Given the description of an element on the screen output the (x, y) to click on. 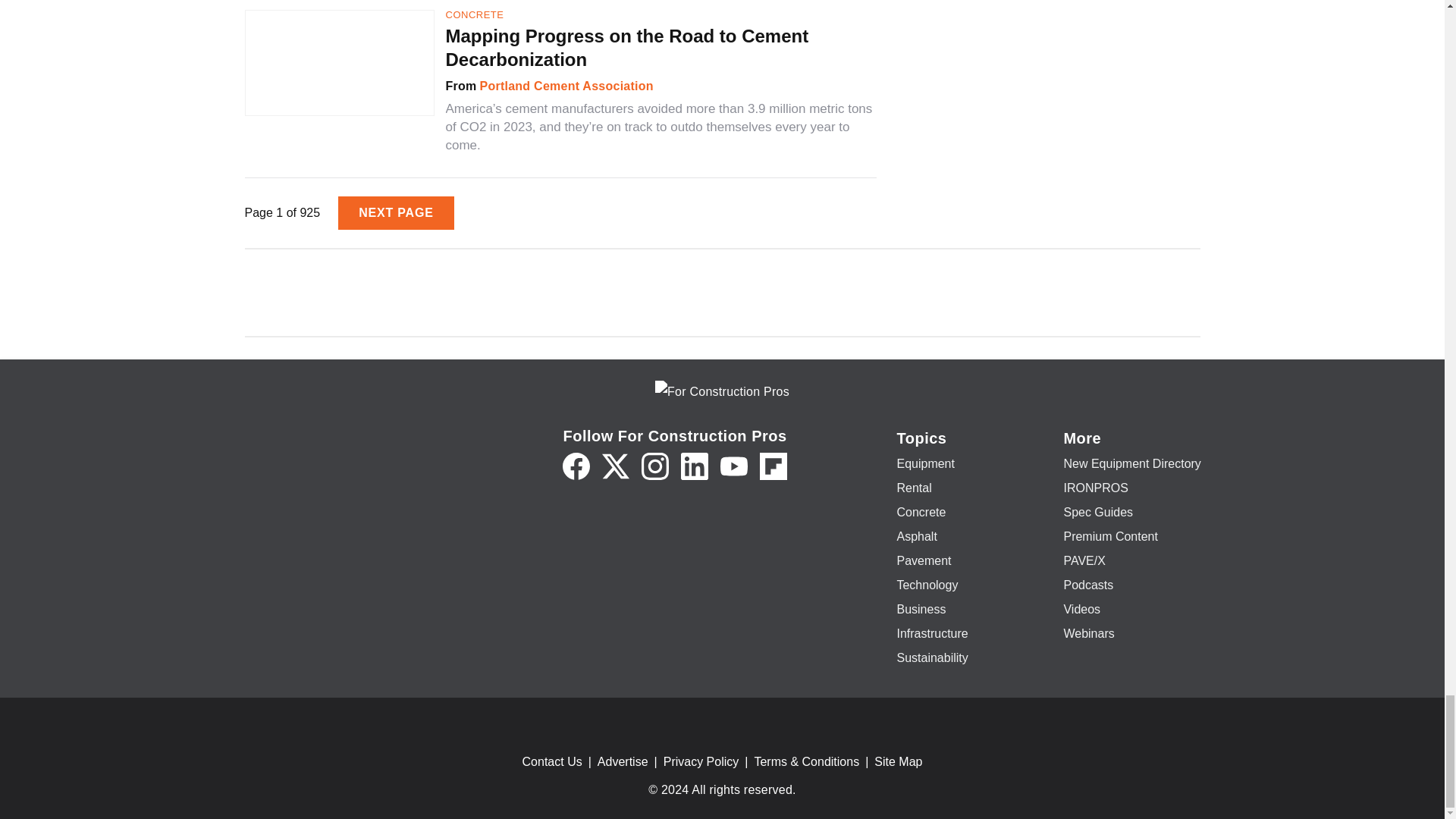
Facebook icon (575, 465)
Instagram icon (655, 465)
Flipboard icon (773, 465)
LinkedIn icon (694, 465)
YouTube icon (734, 465)
Twitter X icon (615, 465)
